Given the description of an element on the screen output the (x, y) to click on. 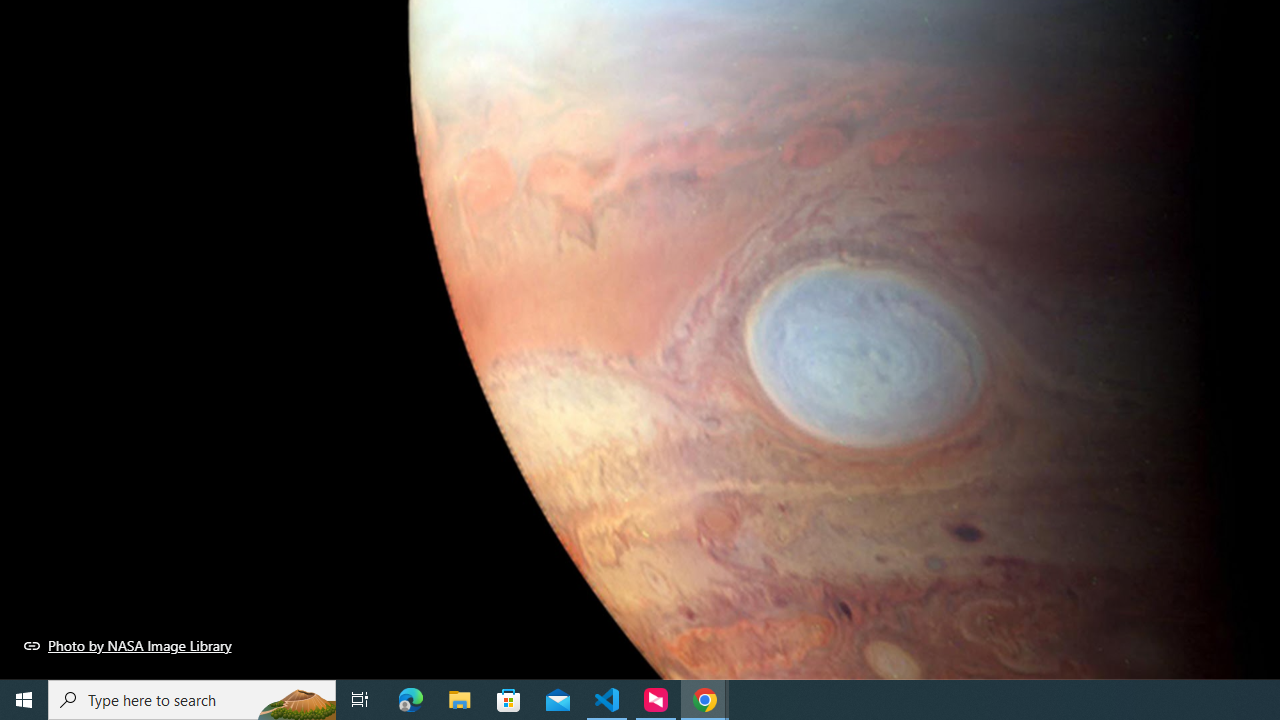
Photo by NASA Image Library (127, 645)
